Given the description of an element on the screen output the (x, y) to click on. 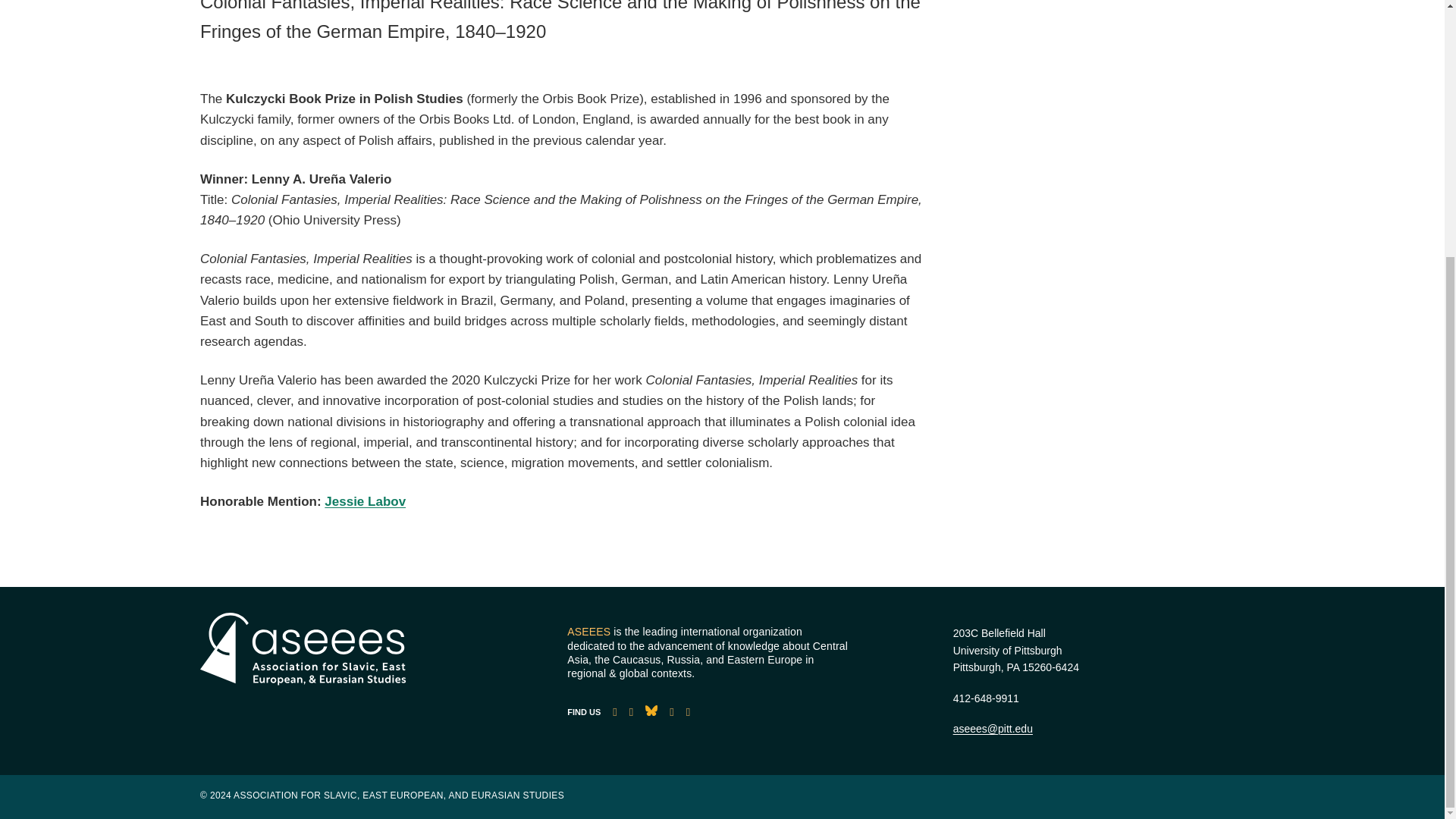
like us on facebook (613, 712)
like us on linkedin (687, 712)
Follow us on BlueSky (651, 712)
Subscribe on YouTube (670, 712)
follow us on X (630, 712)
